Given the description of an element on the screen output the (x, y) to click on. 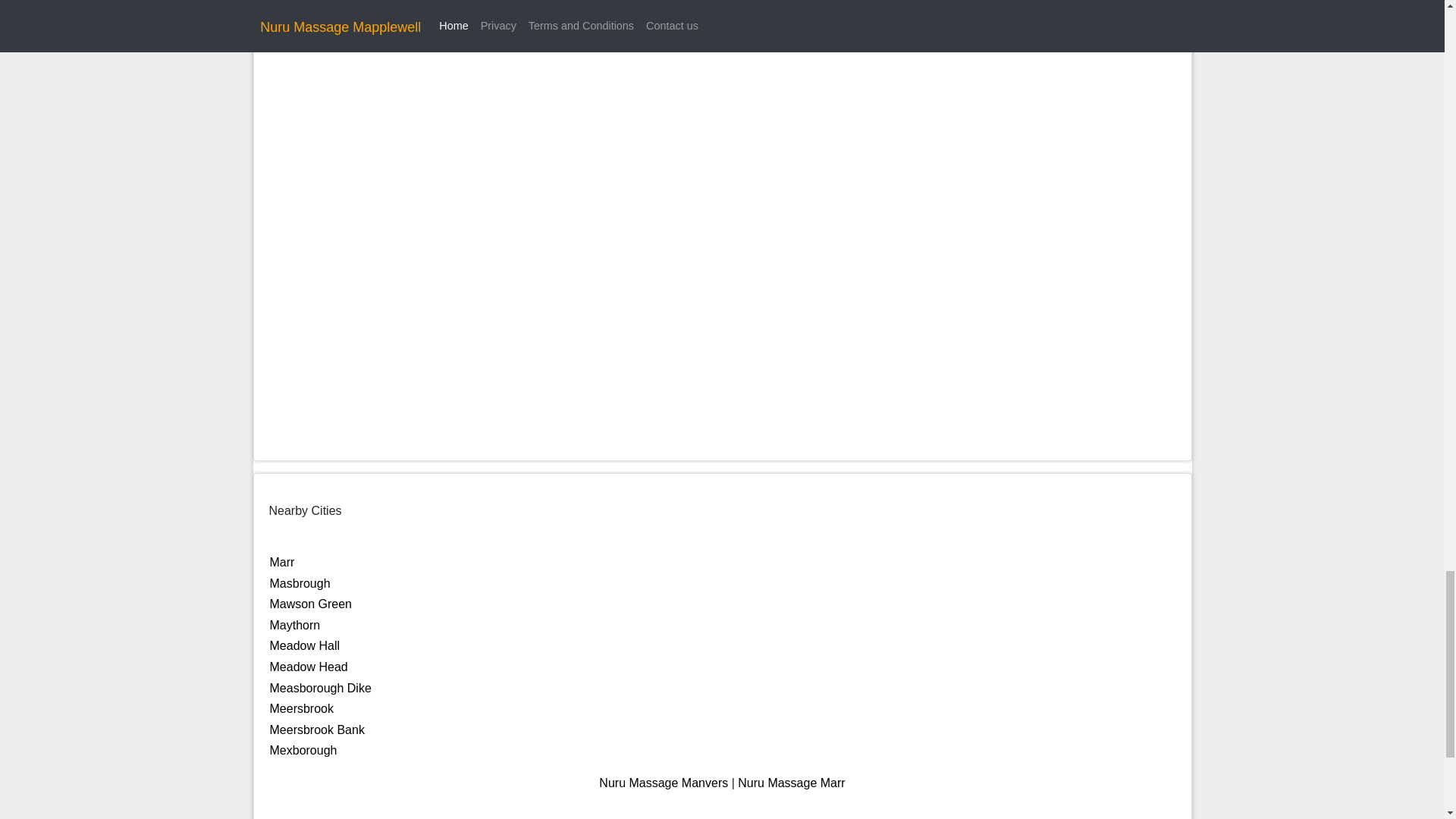
Meadow Head (308, 666)
Mexborough (303, 749)
Meadow Hall (304, 645)
Nuru Massage Manvers (663, 782)
Meersbrook (301, 707)
Masbrough (299, 583)
Mawson Green (310, 603)
Measborough Dike (320, 687)
Marr (282, 562)
Nuru Massage Marr (791, 782)
Meersbrook Bank (317, 729)
Maythorn (294, 625)
